Given the description of an element on the screen output the (x, y) to click on. 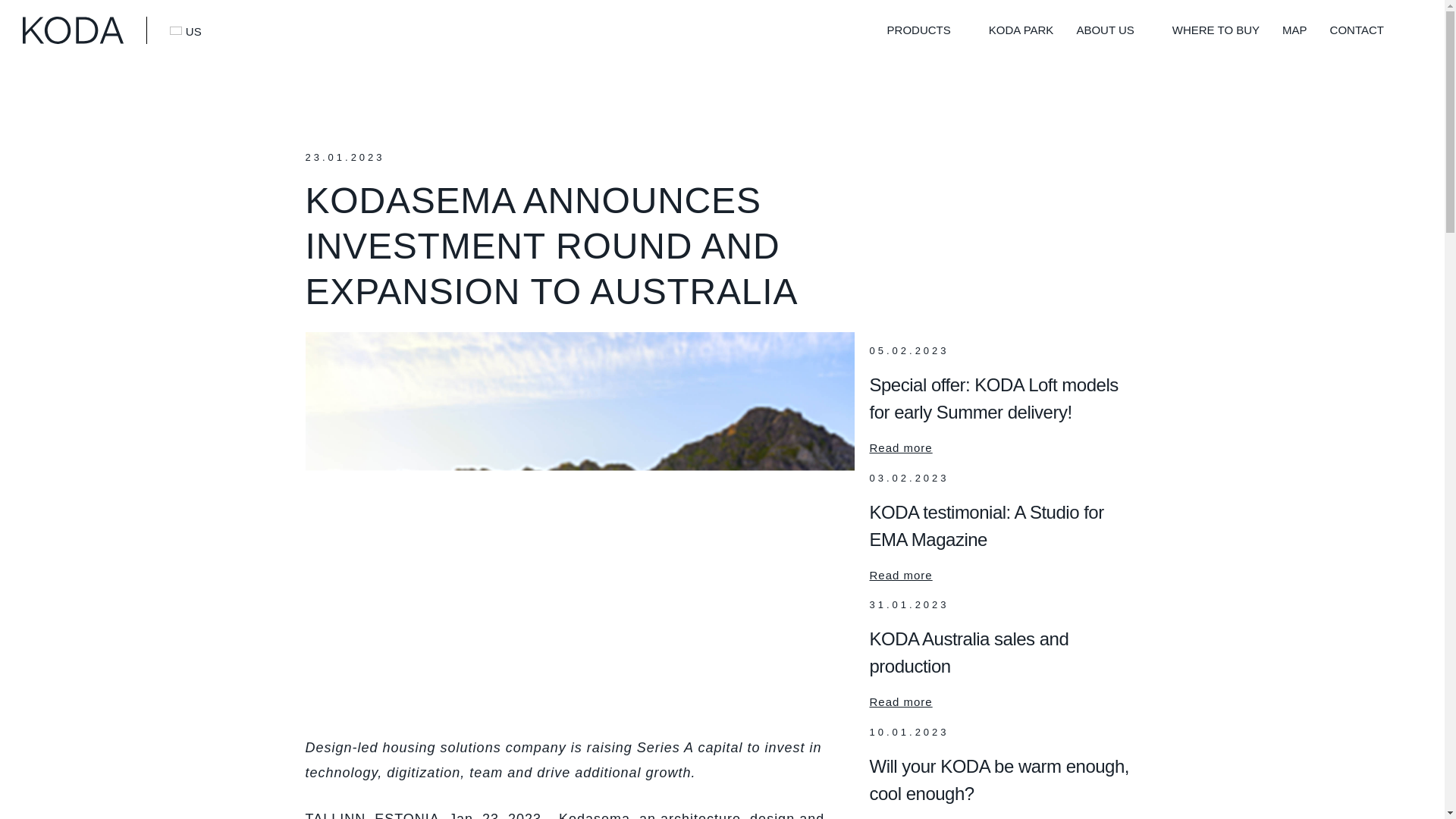
CONTACT (1357, 29)
US (185, 29)
WHERE TO BUY (1215, 29)
MAP (1294, 29)
ABOUT US (1104, 29)
KODA PARK (1021, 29)
PRODUCTS (918, 29)
